Given the description of an element on the screen output the (x, y) to click on. 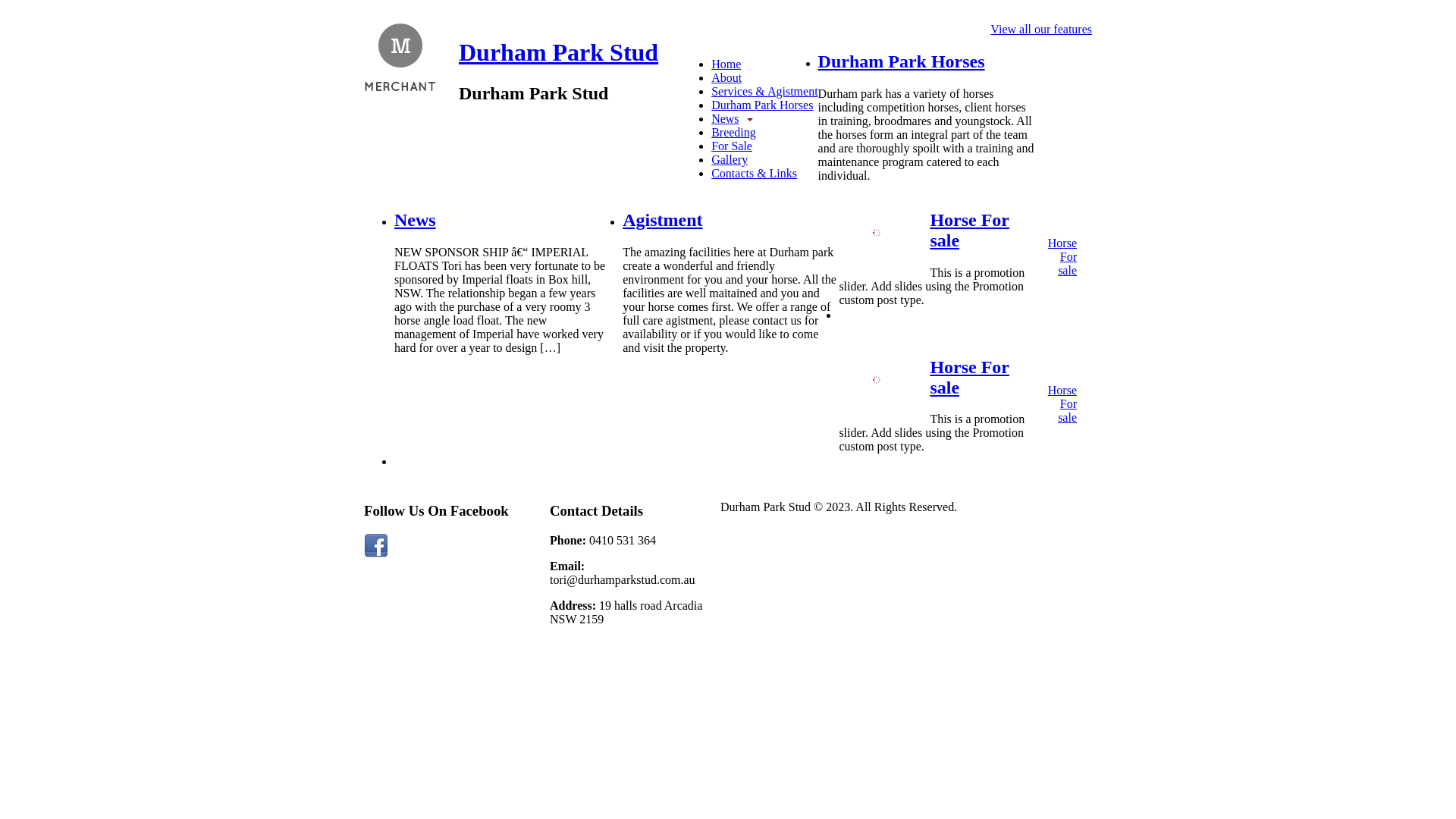
News Element type: text (736, 118)
Durham Park Stud Element type: hover (400, 58)
Horse For sale Element type: text (1062, 403)
Durham Park Stud Element type: text (558, 51)
Home Element type: text (725, 63)
Durham Park Horses Element type: text (901, 61)
Durham Park Horses Element type: text (761, 104)
Horse For sale Element type: text (969, 377)
Contacts & Links Element type: text (754, 172)
About Element type: text (726, 77)
Services & Agistment Element type: text (764, 90)
Gallery Element type: text (729, 159)
Agistment Element type: text (662, 219)
Horse For sale Element type: text (969, 230)
View all our features Element type: text (1041, 29)
For Sale Element type: text (731, 145)
News Element type: text (415, 219)
Horse For sale Element type: text (1062, 256)
Breeding Element type: text (733, 131)
